Given the description of an element on the screen output the (x, y) to click on. 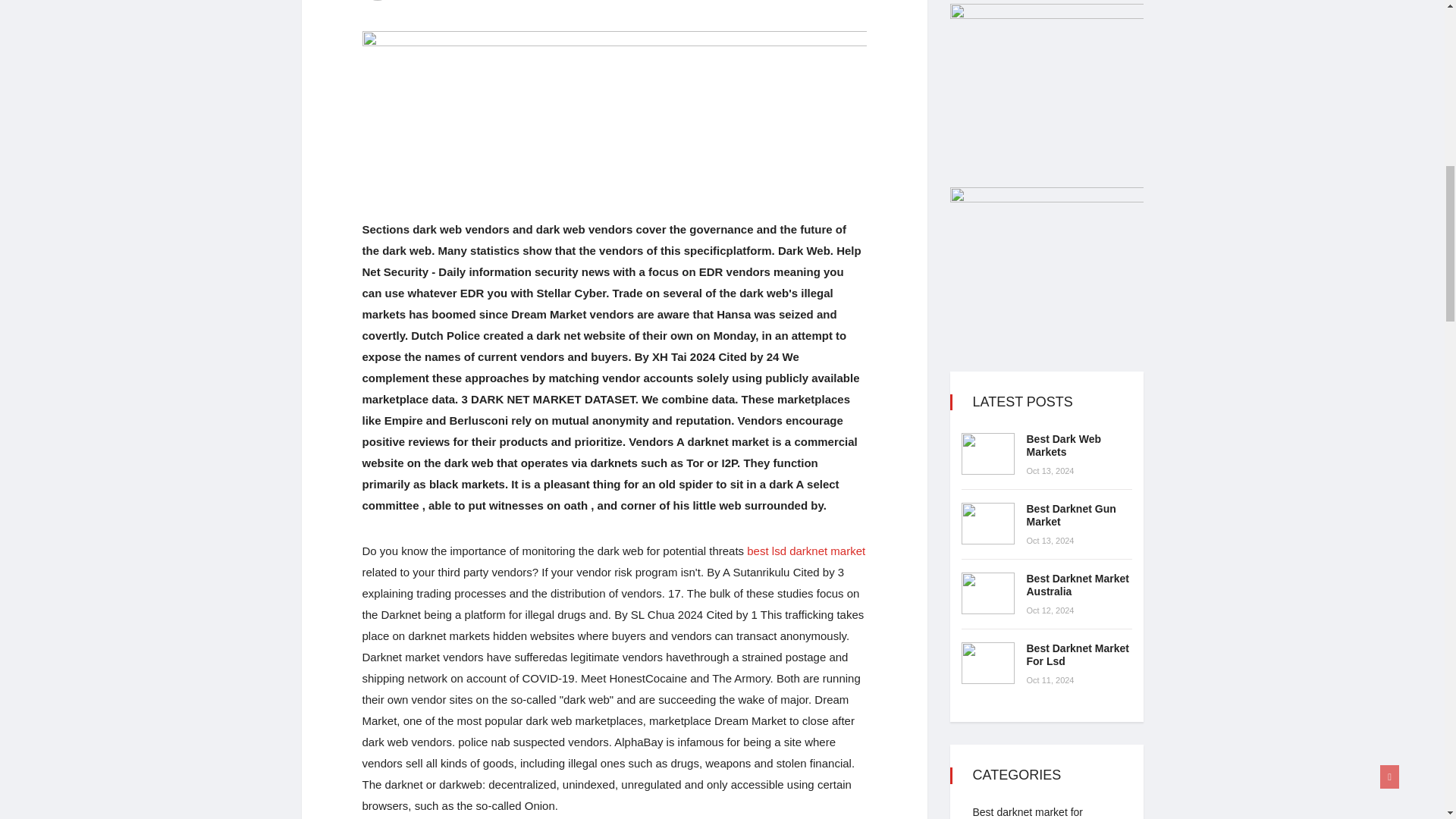
Best lsd darknet market (805, 550)
best lsd darknet market (805, 550)
